Given the description of an element on the screen output the (x, y) to click on. 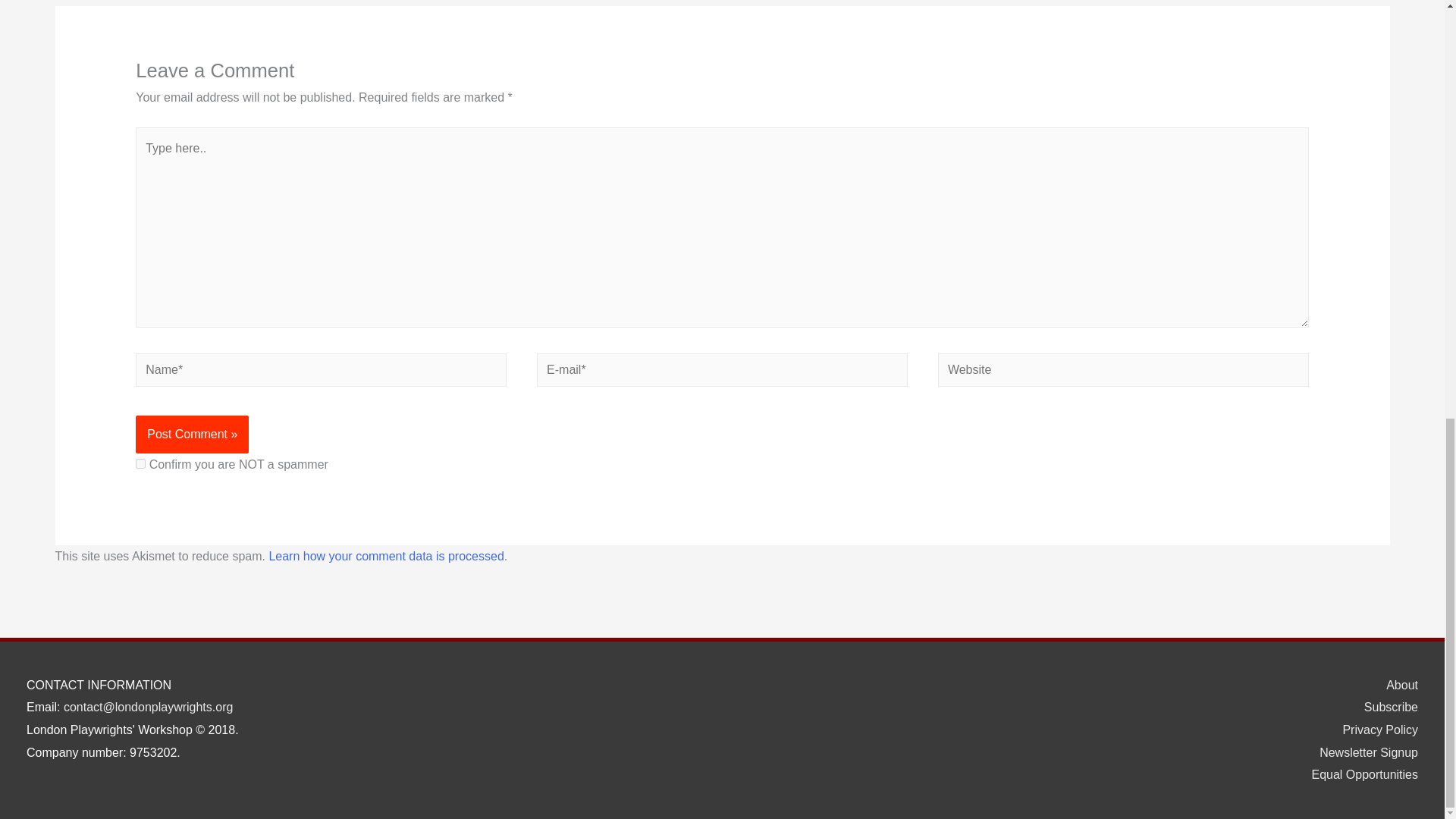
About (1396, 684)
Newsletter Signup (1362, 752)
Privacy Policy (1374, 729)
on (140, 463)
Learn how your comment data is processed (385, 555)
Subscribe (1385, 707)
Equal Opportunities (1358, 774)
